Given the description of an element on the screen output the (x, y) to click on. 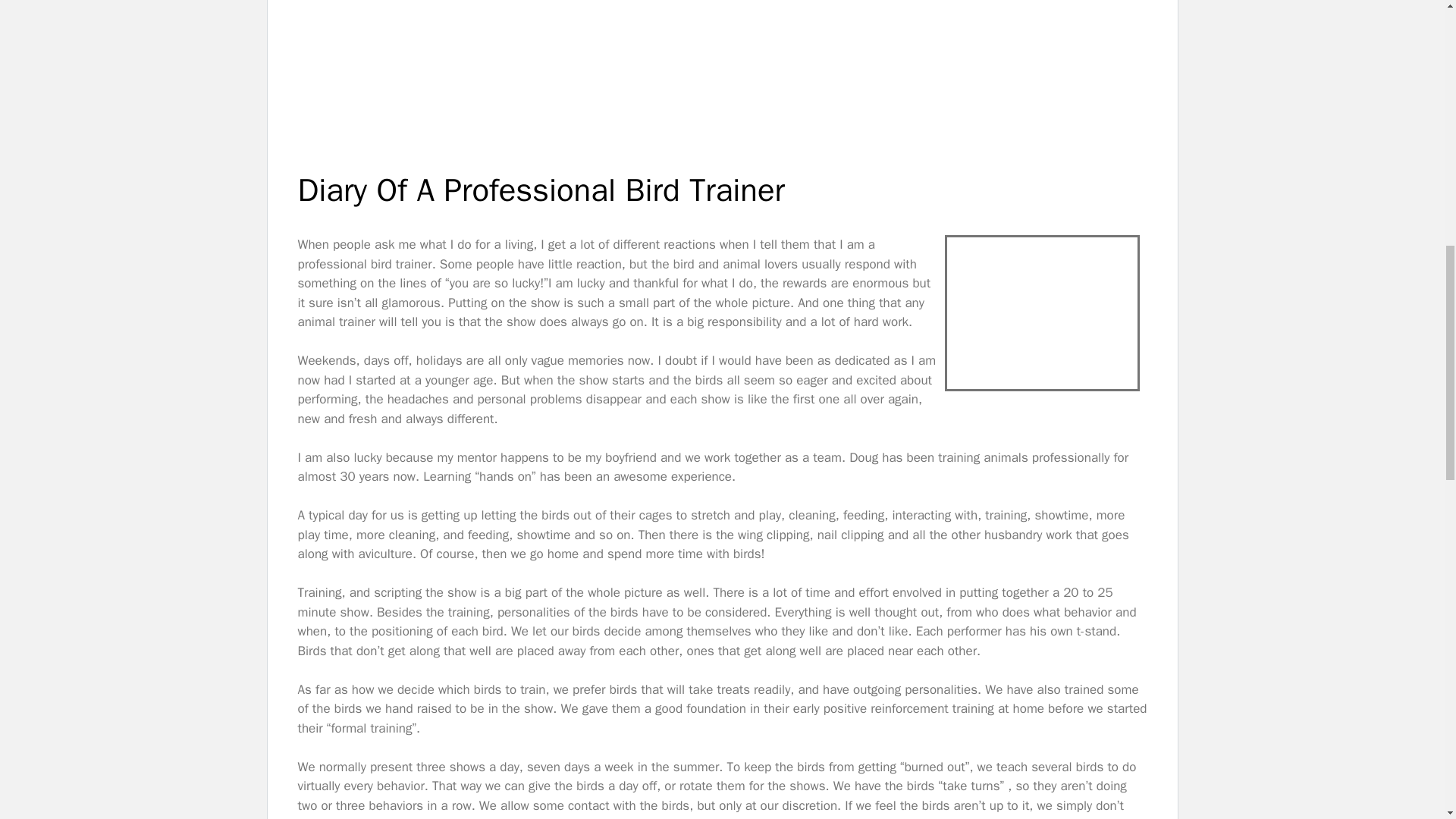
Diary Of A Professional Bird Trainer 1 (721, 72)
Diary Of A Professional Bird Trainer 2 (1042, 313)
